Given the description of an element on the screen output the (x, y) to click on. 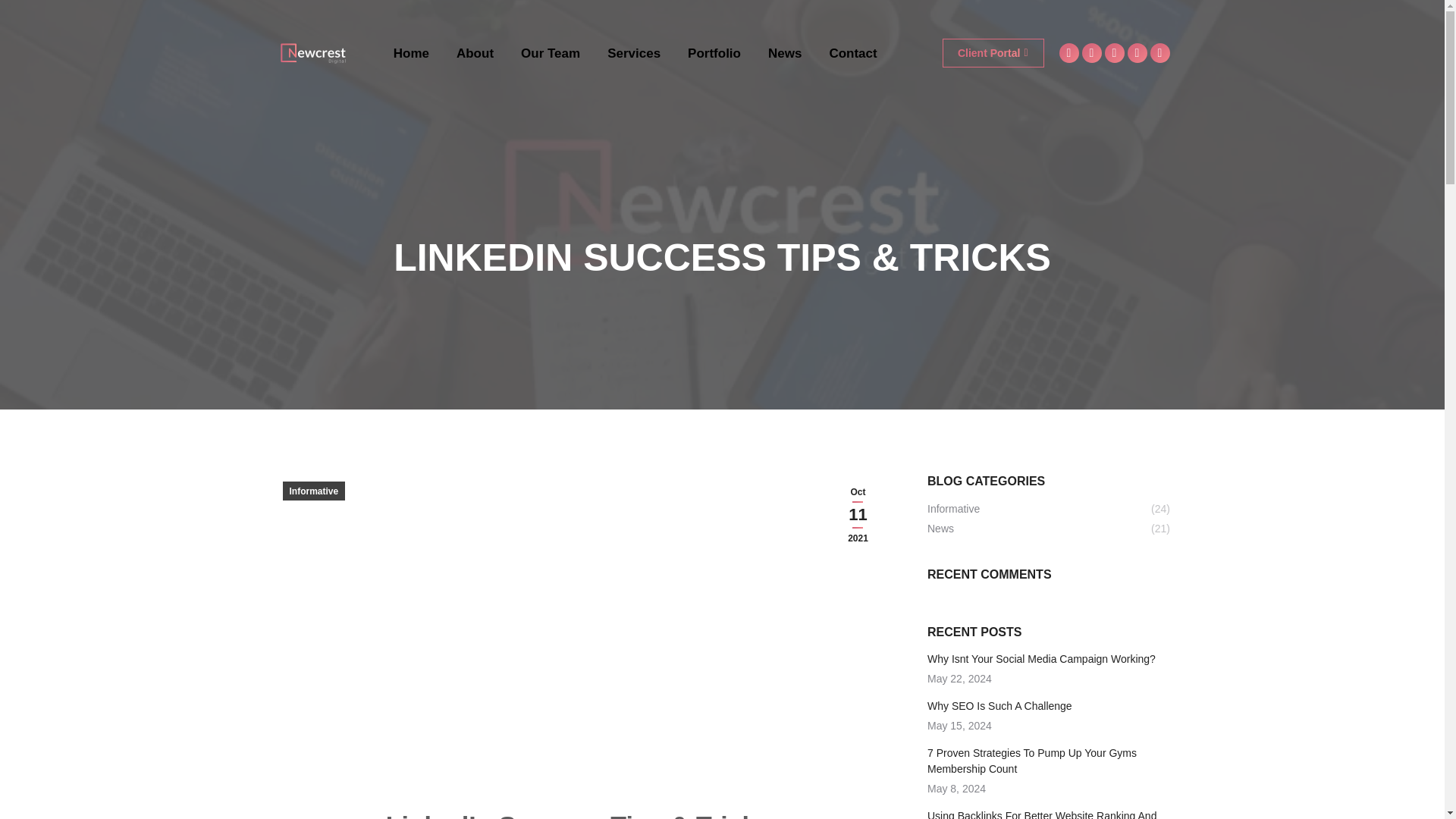
Instagram page opens in new window (1136, 53)
Services (633, 53)
YouTube page opens in new window (1159, 53)
YouTube page opens in new window (1159, 53)
Facebook page opens in new window (1068, 53)
Our Team (550, 53)
Contact (852, 53)
Client Portal (992, 52)
Twitter page opens in new window (1090, 53)
News (785, 53)
